Given the description of an element on the screen output the (x, y) to click on. 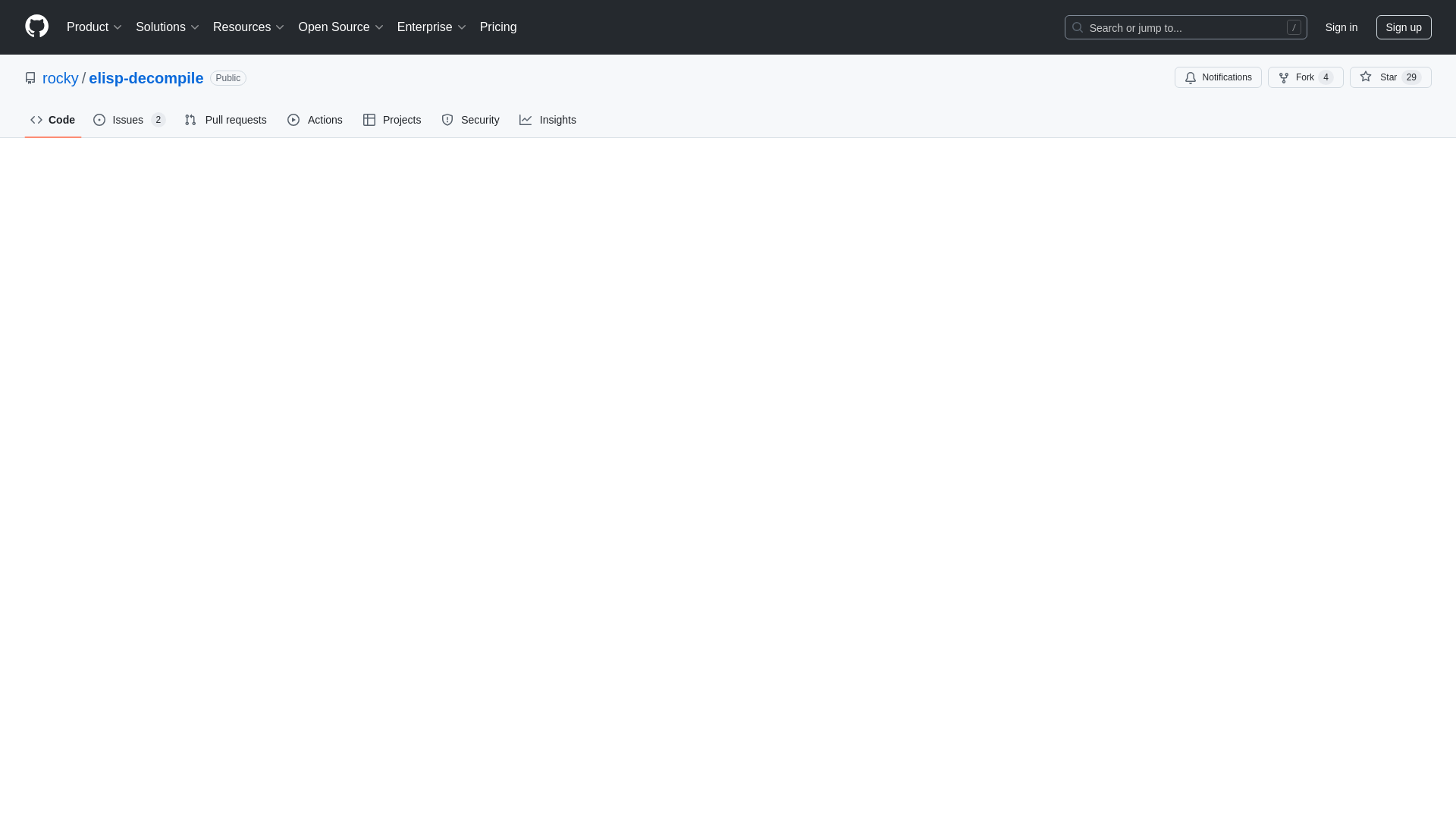
2 (159, 119)
Open Source (341, 27)
29 (1411, 77)
Resources (249, 27)
4 (1325, 77)
Solutions (167, 27)
Product (95, 27)
